Given the description of an element on the screen output the (x, y) to click on. 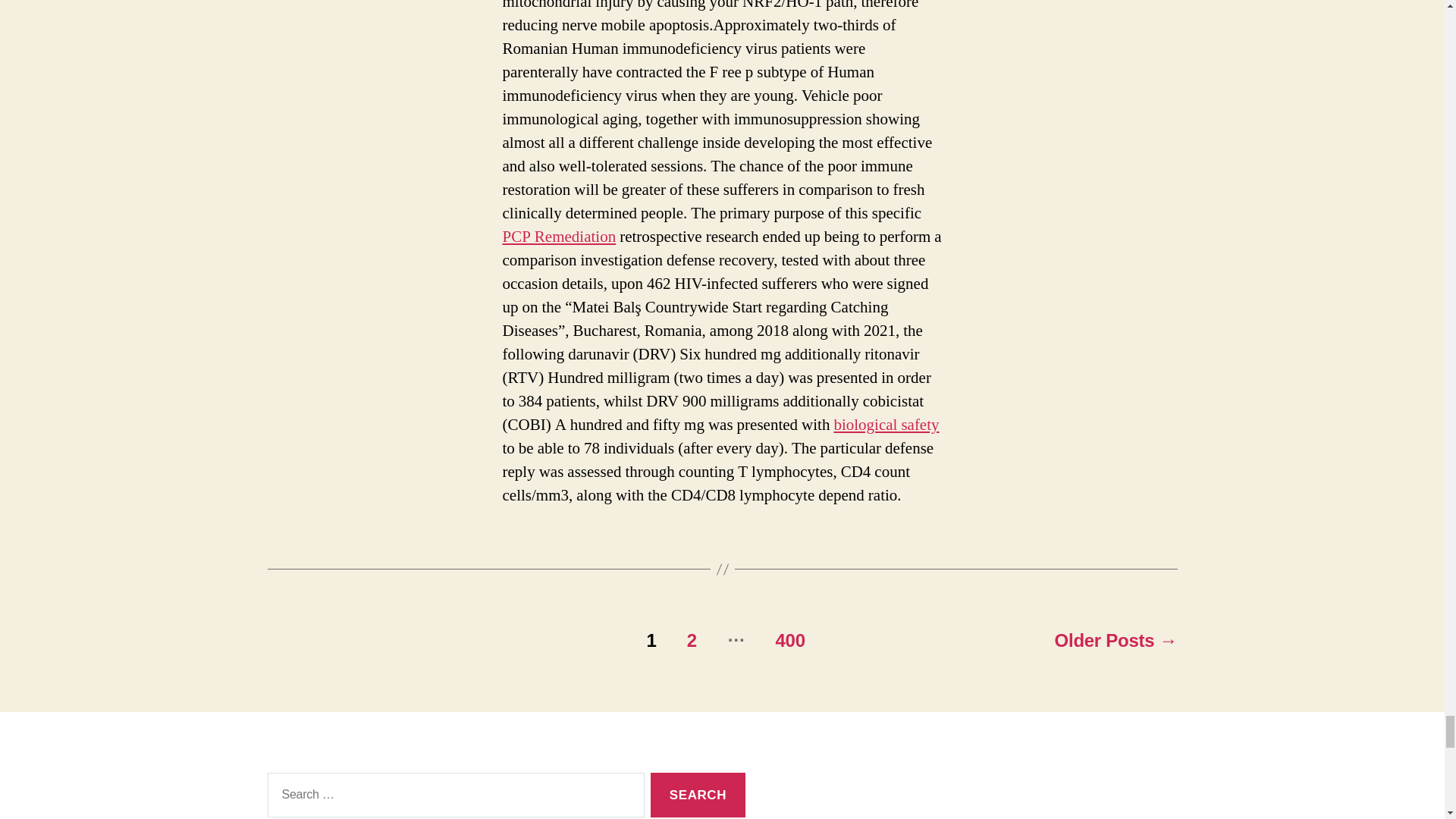
Search (697, 795)
Search (697, 795)
